Given the description of an element on the screen output the (x, y) to click on. 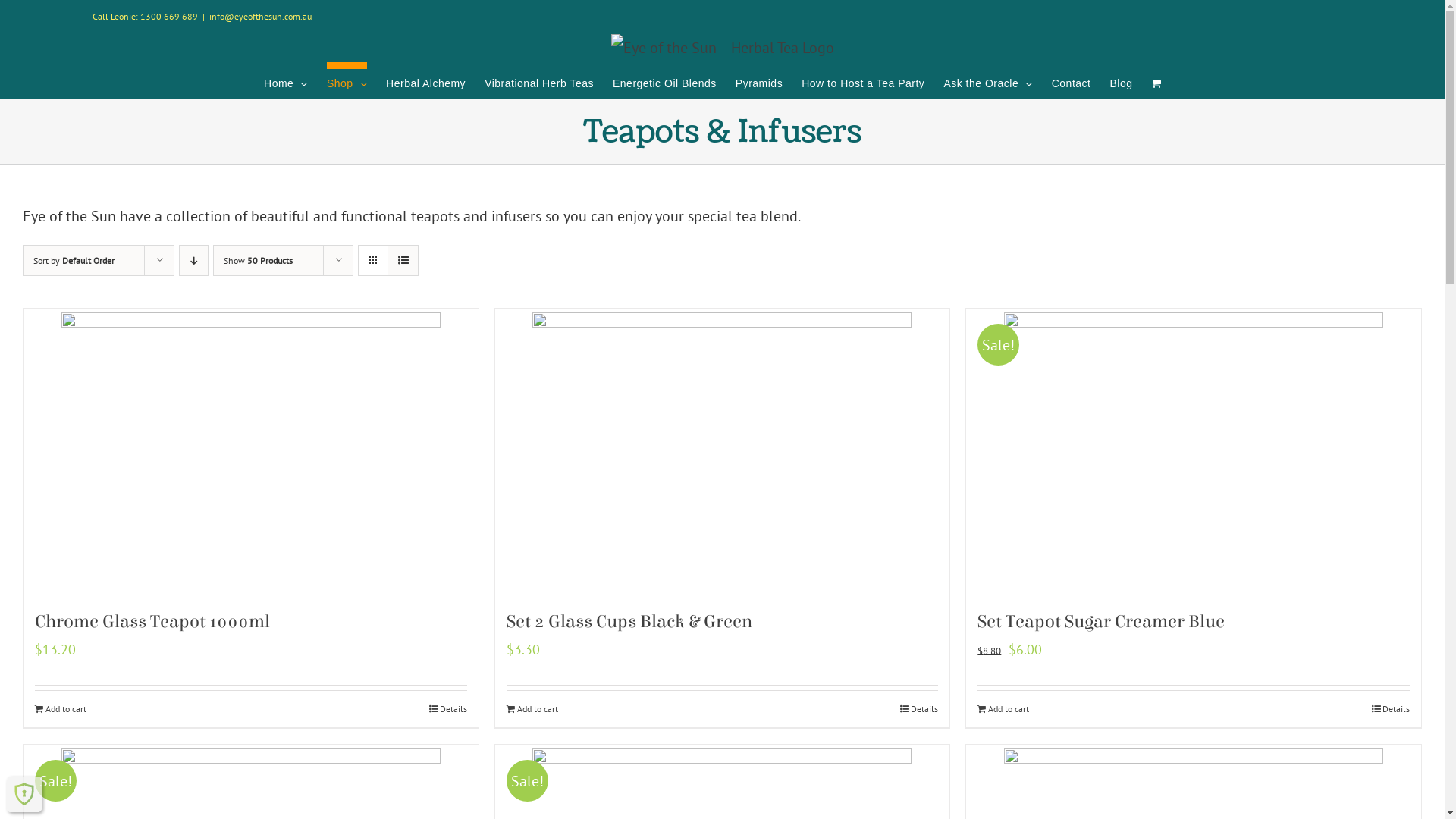
Add to cart Element type: text (60, 708)
Contact Element type: text (1071, 79)
Energetic Oil Blends Element type: text (664, 79)
Chrome Glass Teapot 1000ml Element type: text (151, 621)
Details Element type: text (448, 708)
Show 50 Products Element type: text (257, 260)
Ask the Oracle Element type: text (987, 79)
Sale! Element type: text (1193, 450)
Shield Security Element type: hover (24, 793)
Blog Element type: text (1120, 79)
Pyramids Element type: text (758, 79)
Set Teapot Sugar Creamer Blue Element type: text (1100, 621)
Herbal Alchemy Element type: text (425, 79)
Set 2 Glass Cups Black & Green Element type: text (629, 621)
info@eyeofthesun.com.au Element type: text (260, 15)
Add to cart Element type: text (532, 708)
Details Element type: text (919, 708)
Shop Element type: text (346, 79)
Home Element type: text (285, 79)
Vibrational Herb Teas Element type: text (538, 79)
How to Host a Tea Party Element type: text (862, 79)
Details Element type: text (1390, 708)
Sort by Default Order Element type: text (73, 260)
Add to cart Element type: text (1003, 708)
